Given the description of an element on the screen output the (x, y) to click on. 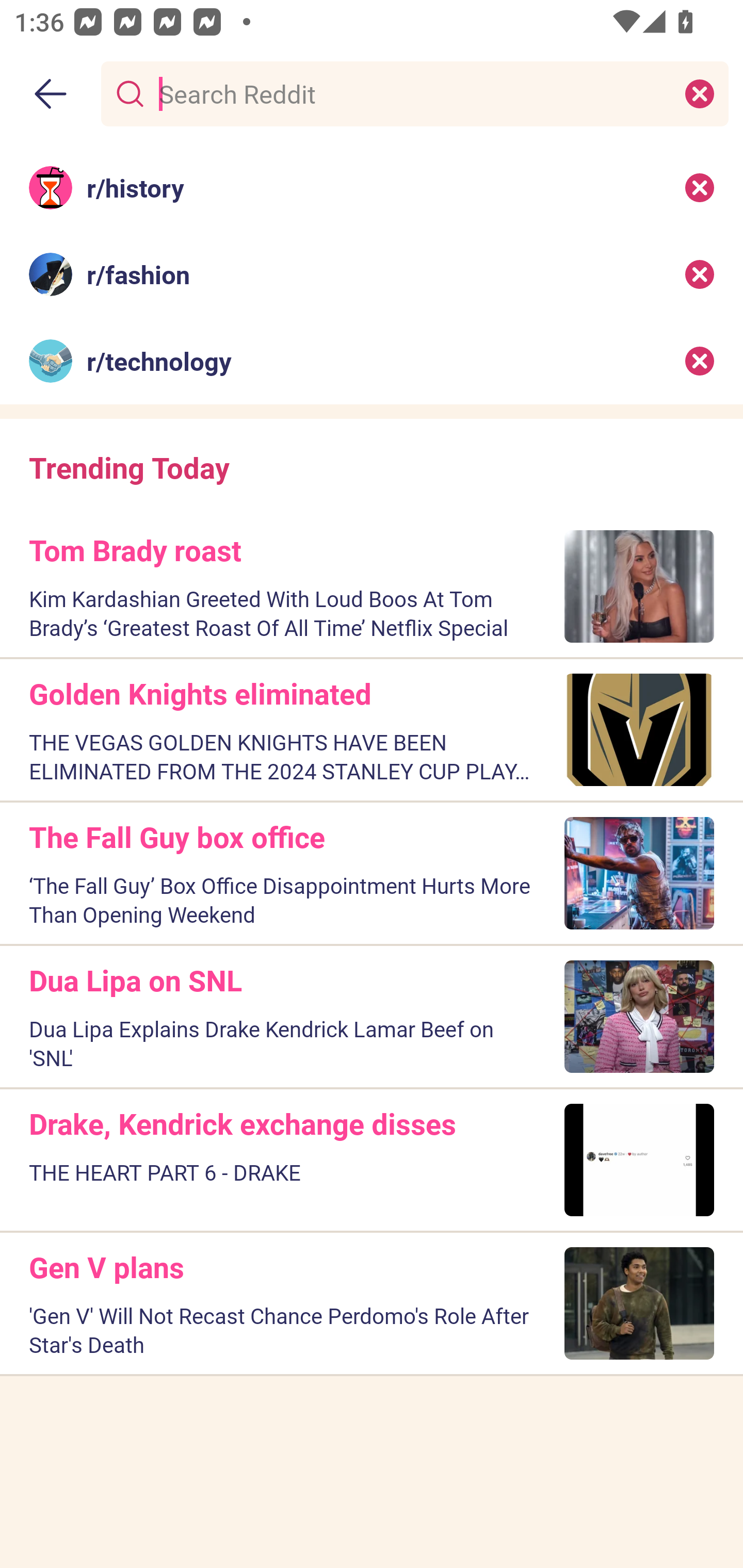
Back (50, 93)
Search Reddit (410, 93)
Clear search (699, 93)
r/history Recent search: r/history Remove (371, 187)
Remove (699, 187)
r/fashion Recent search: r/fashion Remove (371, 274)
Remove (699, 274)
r/technology Recent search: r/technology Remove (371, 361)
Remove (699, 361)
